Given the description of an element on the screen output the (x, y) to click on. 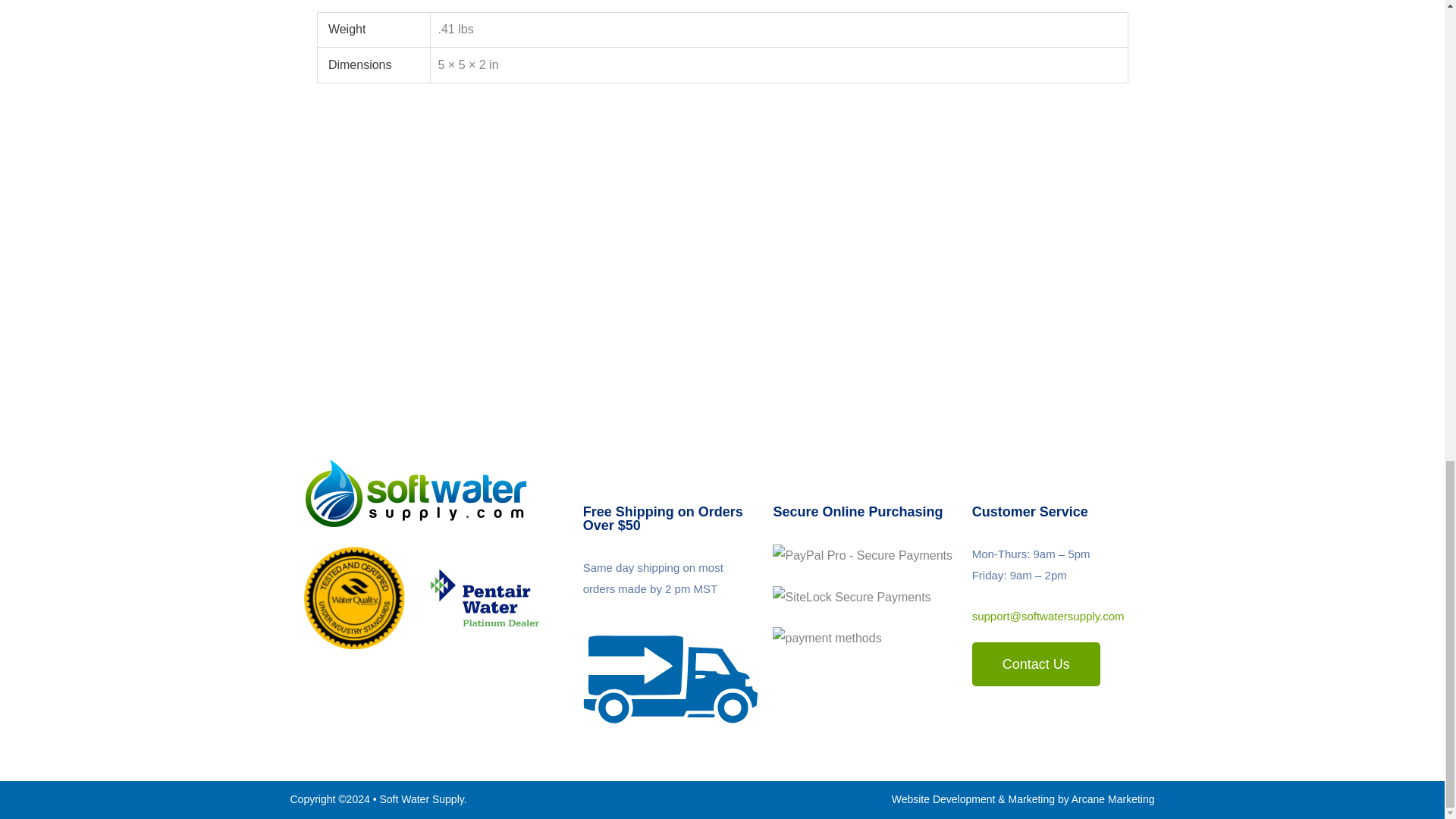
WQA-Seal (353, 598)
pentair-water-platinum-dealer-logo (484, 598)
Site-Lock-secure (851, 597)
payment-methods (826, 638)
paypal-pro (862, 555)
